Given the description of an element on the screen output the (x, y) to click on. 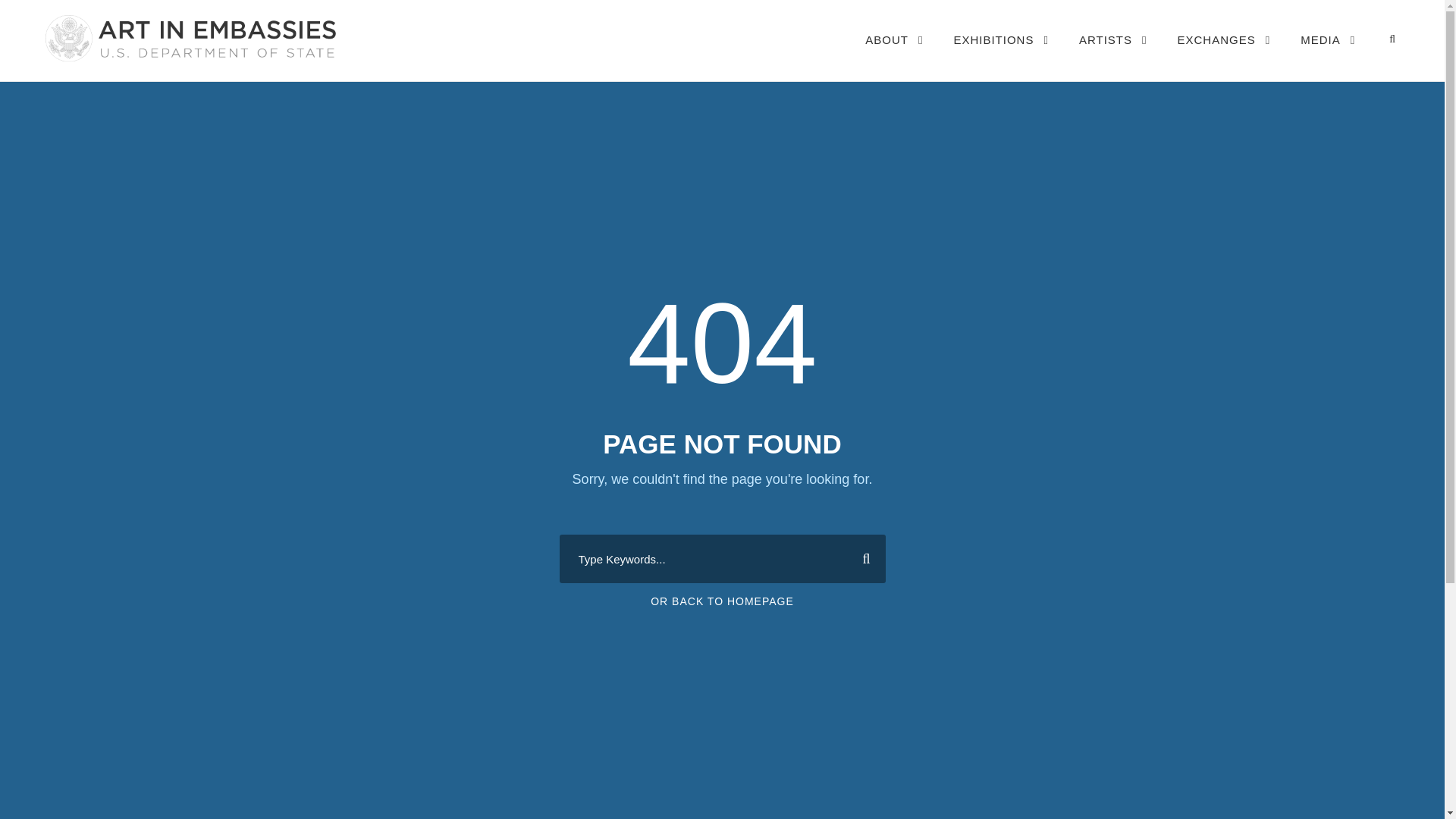
aie logo3 (188, 38)
Search (860, 558)
ARTISTS (1112, 55)
ABOUT (893, 55)
MEDIA (1327, 55)
EXHIBITIONS (1000, 55)
EXCHANGES (1224, 55)
OR BACK TO HOMEPAGE (721, 601)
